Given the description of an element on the screen output the (x, y) to click on. 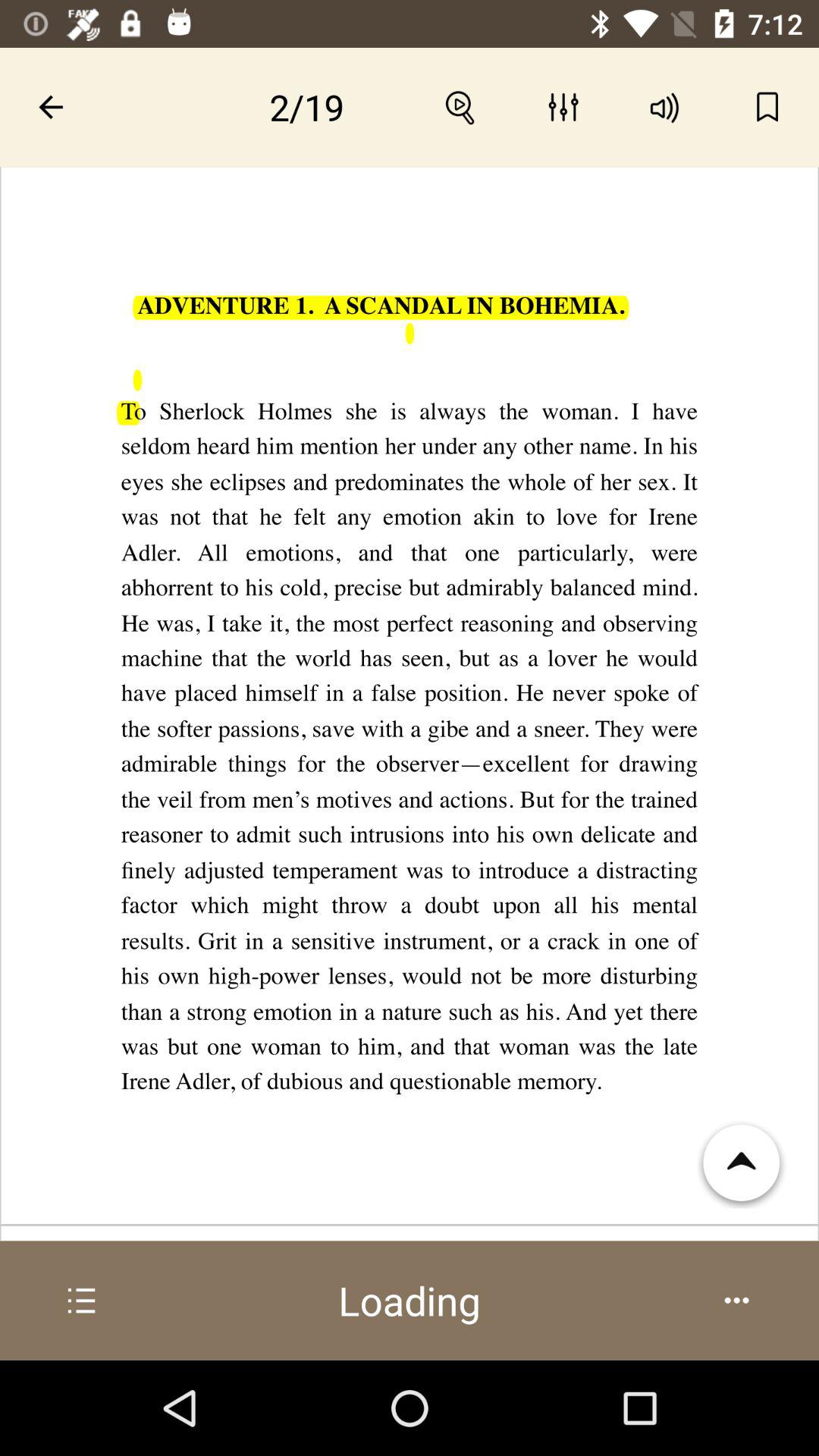
bookmark (767, 106)
